Given the description of an element on the screen output the (x, y) to click on. 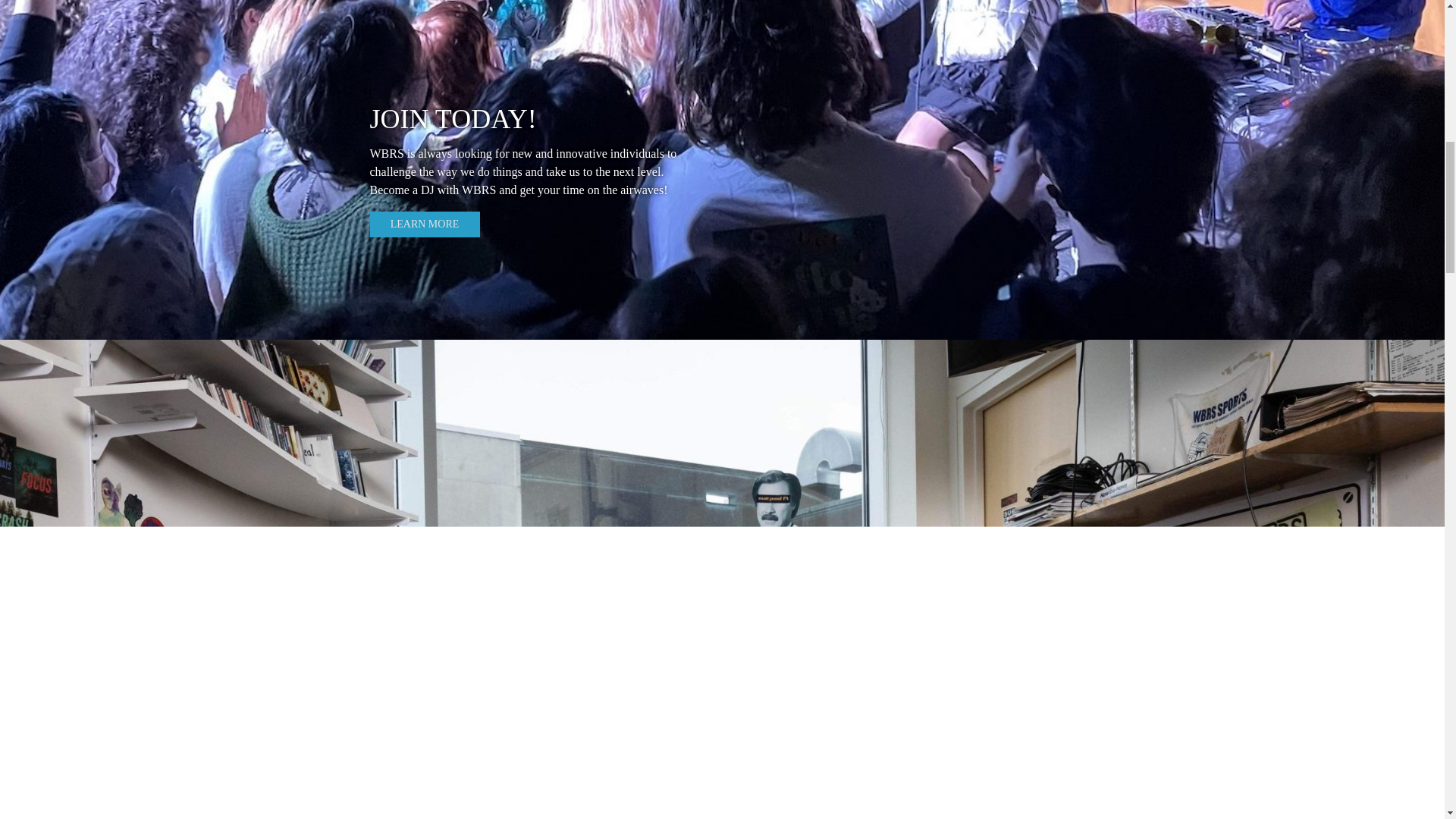
LEARN MORE (424, 224)
